Given the description of an element on the screen output the (x, y) to click on. 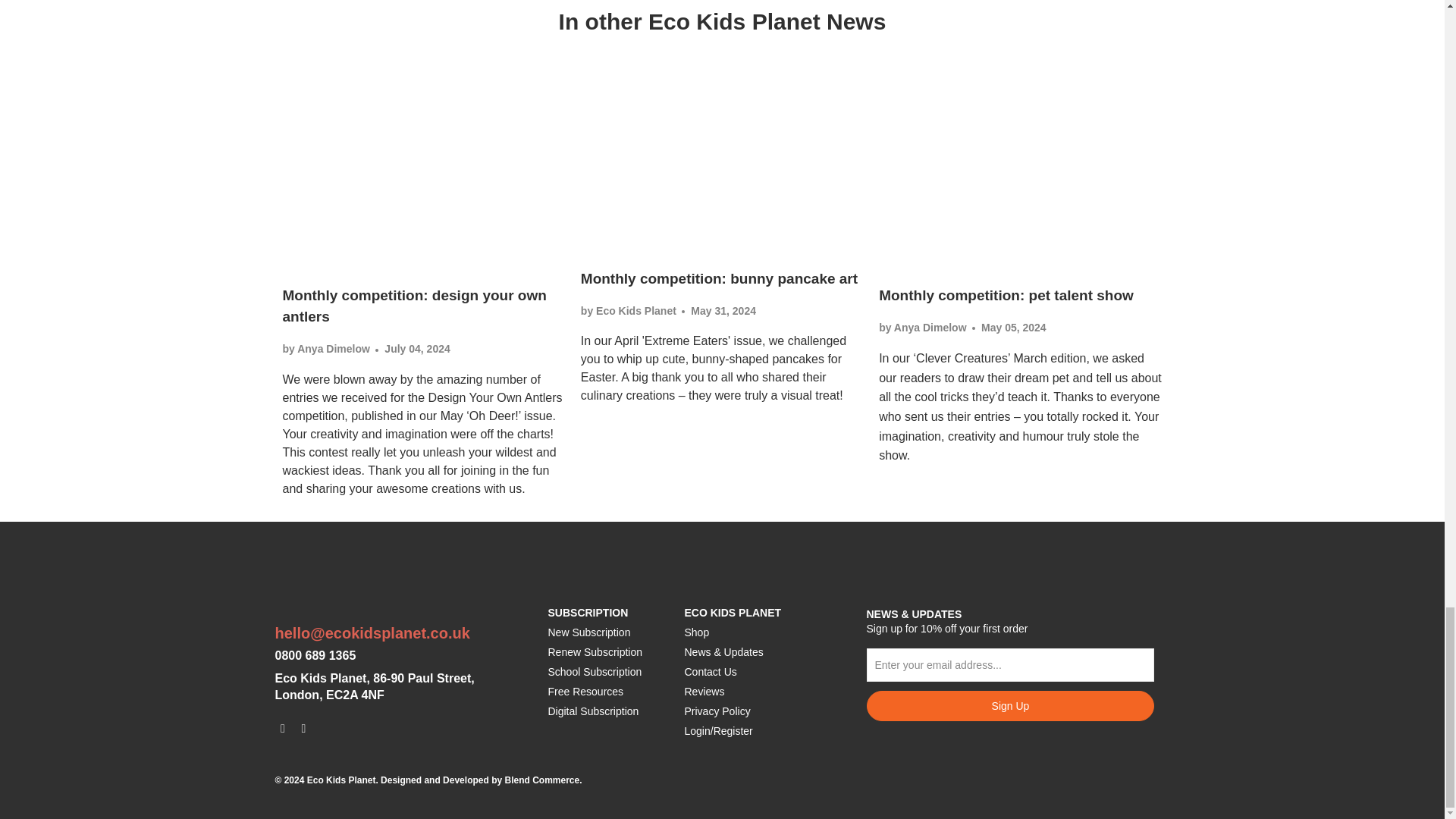
Monthly Competition: Design Your Own Antlers (414, 306)
Monthly Competition: Bunny Pancake Art (718, 278)
Monthly Competition: Pet Talent Show (1006, 295)
Monthly Competition: Design Your Own Antlers (423, 174)
Monthly Competition: Pet Talent Show (1020, 174)
tel:0800 689 1365 (315, 655)
Monthly Competition: Bunny Pancake Art (721, 166)
Sign Up (1010, 706)
